Given the description of an element on the screen output the (x, y) to click on. 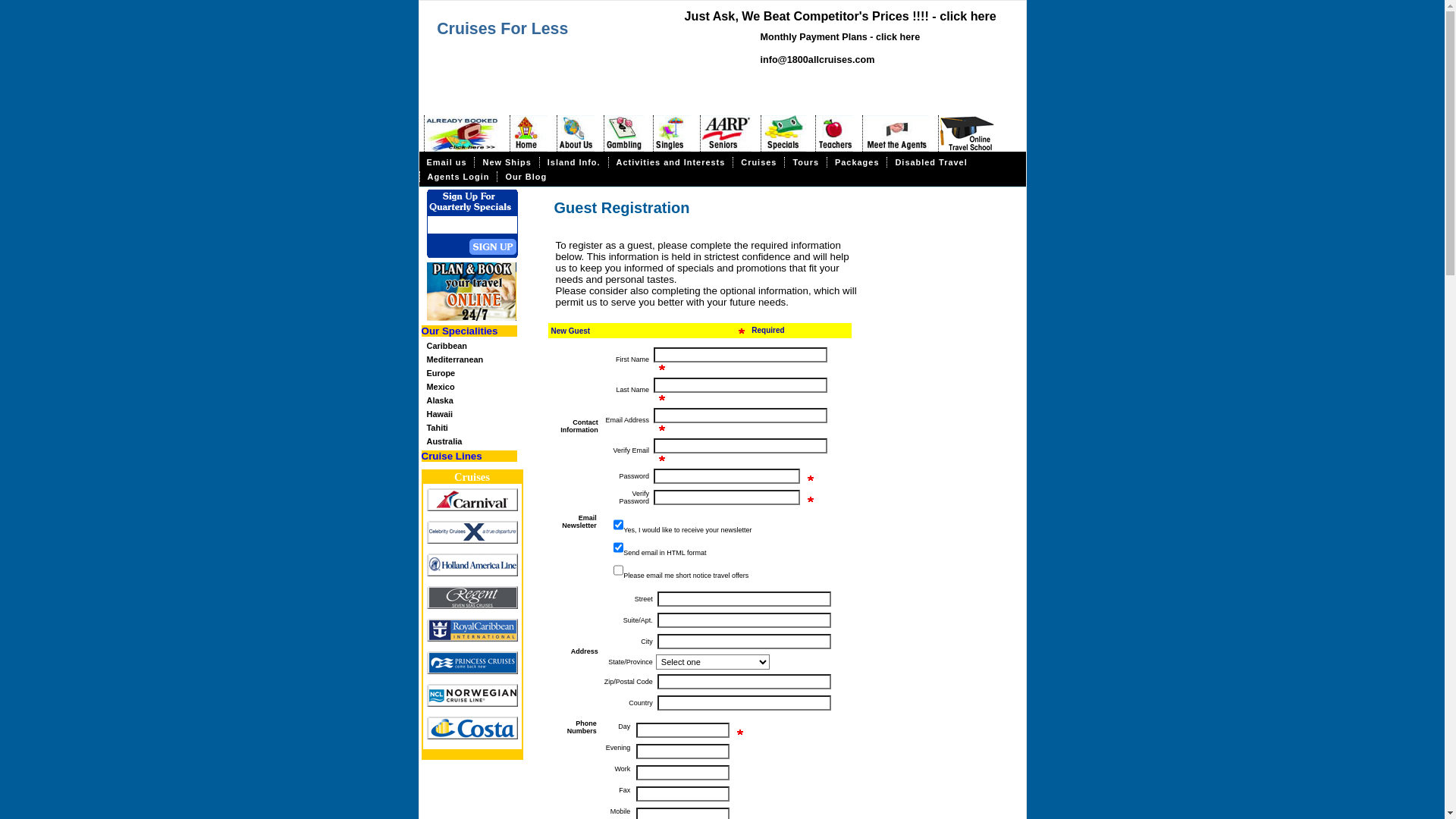
info@1800allcruises.com Element type: text (816, 59)
Activities and Interests Element type: text (670, 161)
Monthly Payment Plans - click here Element type: text (839, 36)
Agents Login Element type: text (457, 176)
Cruises Element type: text (758, 161)
Email us Element type: text (445, 161)
Mediterranean Element type: text (472, 359)
Packages Element type: text (856, 161)
Our Blog Element type: text (525, 176)
Just Ask, We Beat Competitor's Prices !!!! - click here Element type: text (839, 15)
Cruises Element type: text (471, 476)
Mexico Element type: text (472, 386)
Tahiti Element type: text (472, 427)
Disabled Travel Element type: text (930, 161)
Caribbean Element type: text (472, 345)
Alaska Element type: text (472, 400)
New Ships Element type: text (505, 161)
Hawaii Element type: text (472, 413)
Tours Element type: text (805, 161)
Island Info. Element type: text (573, 161)
Australia Element type: text (472, 441)
Europe Element type: text (472, 372)
